Given the description of an element on the screen output the (x, y) to click on. 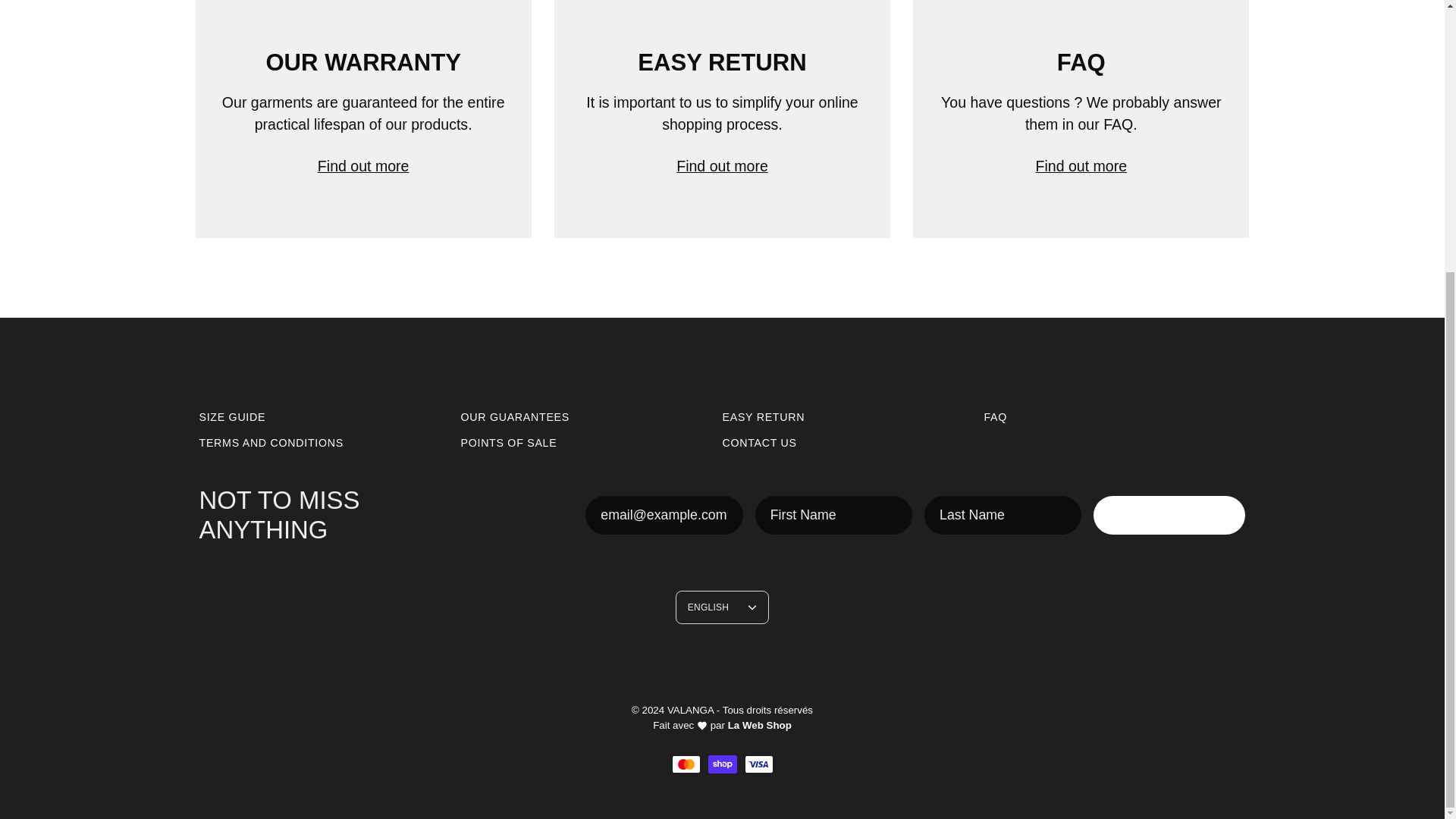
Visa (758, 764)
La Web Shop (760, 725)
Shop Pay (721, 764)
SIZE GUIDE (231, 417)
FAQ (1080, 119)
Mastercard (685, 764)
Easy return (722, 119)
EASY RETURN (763, 417)
Our warranty (362, 119)
OUR GUARANTEES (515, 417)
